Given the description of an element on the screen output the (x, y) to click on. 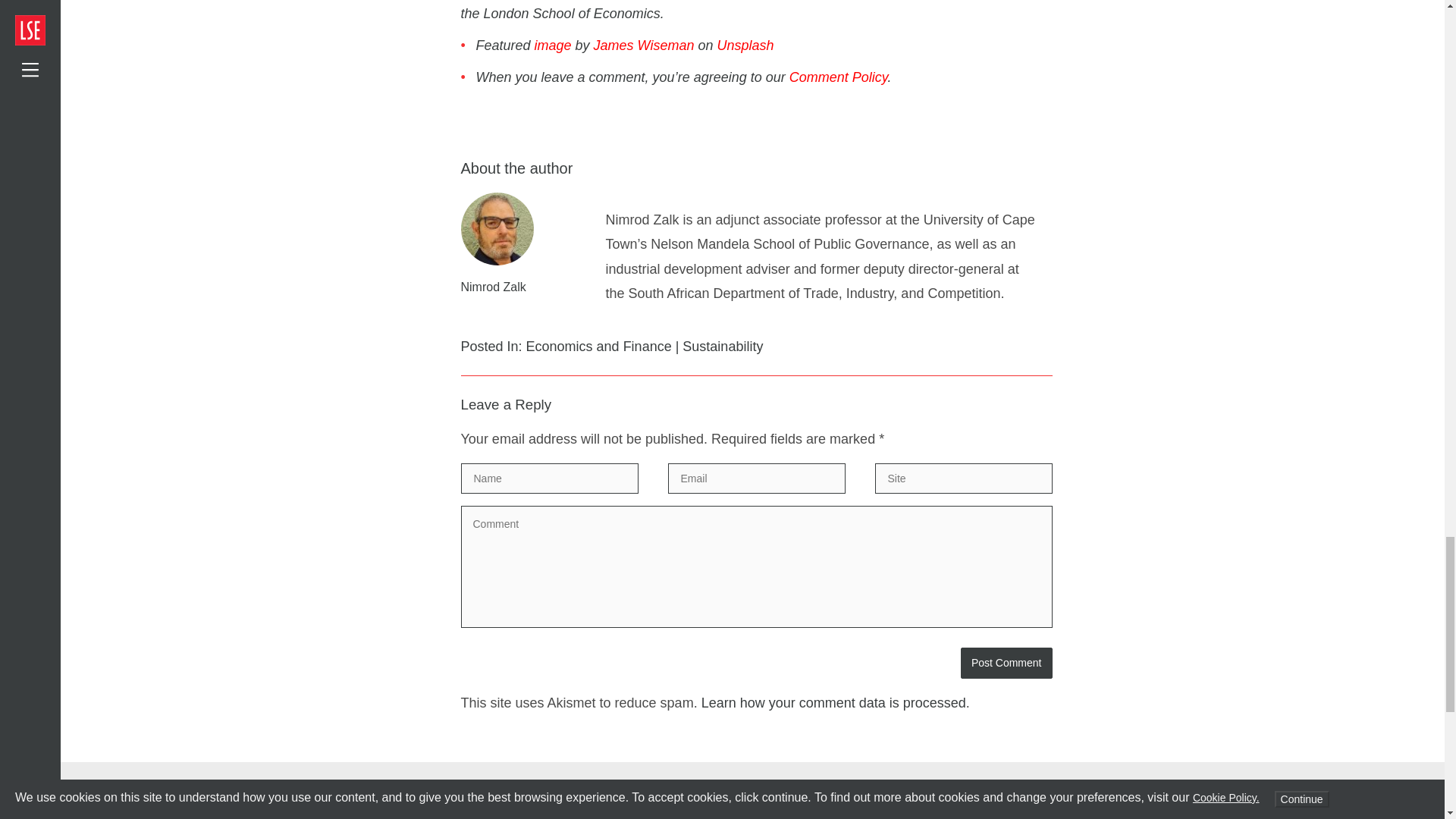
Post Comment (1006, 662)
